Given the description of an element on the screen output the (x, y) to click on. 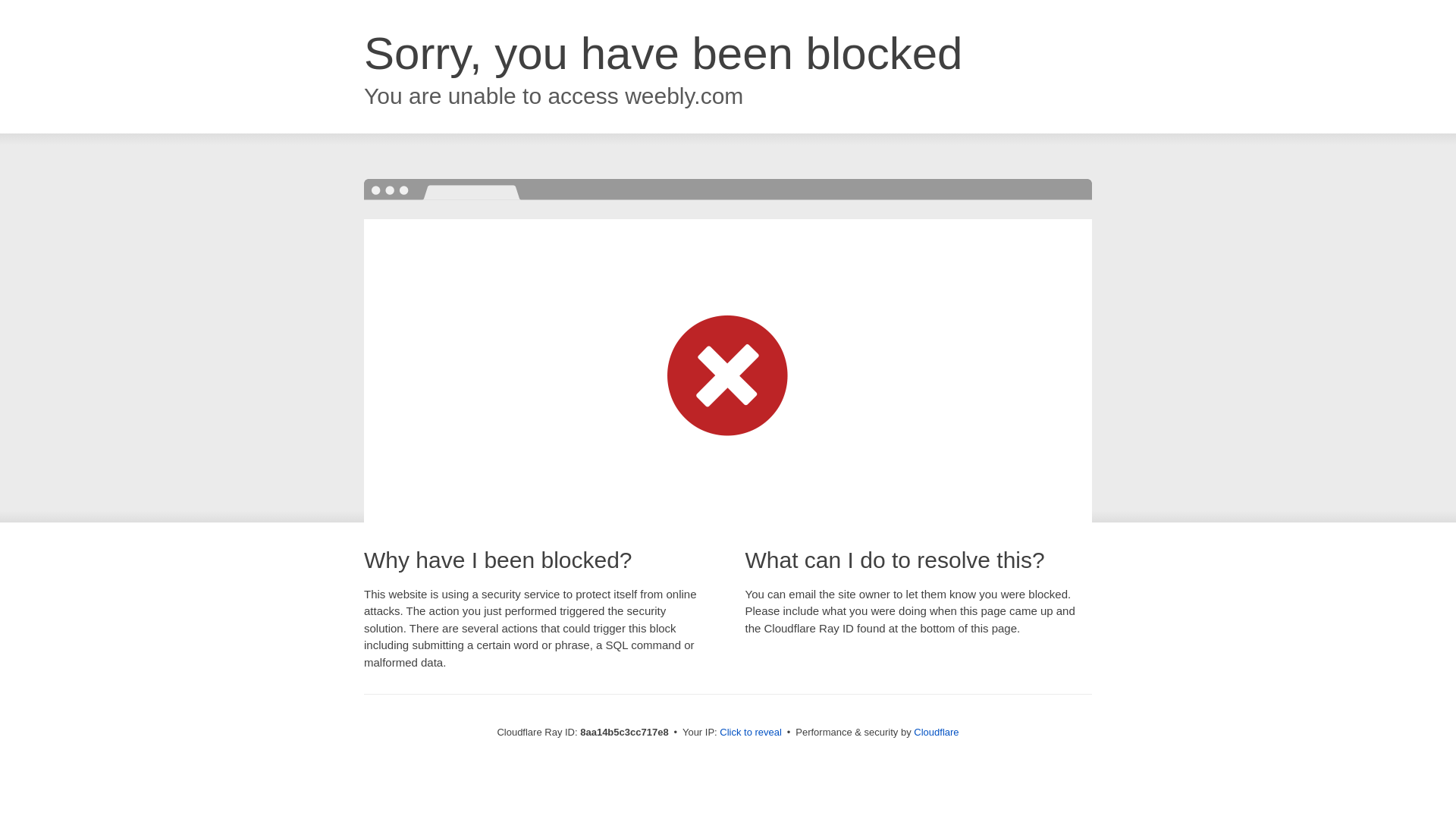
Click to reveal (750, 732)
Cloudflare (936, 731)
